Given the description of an element on the screen output the (x, y) to click on. 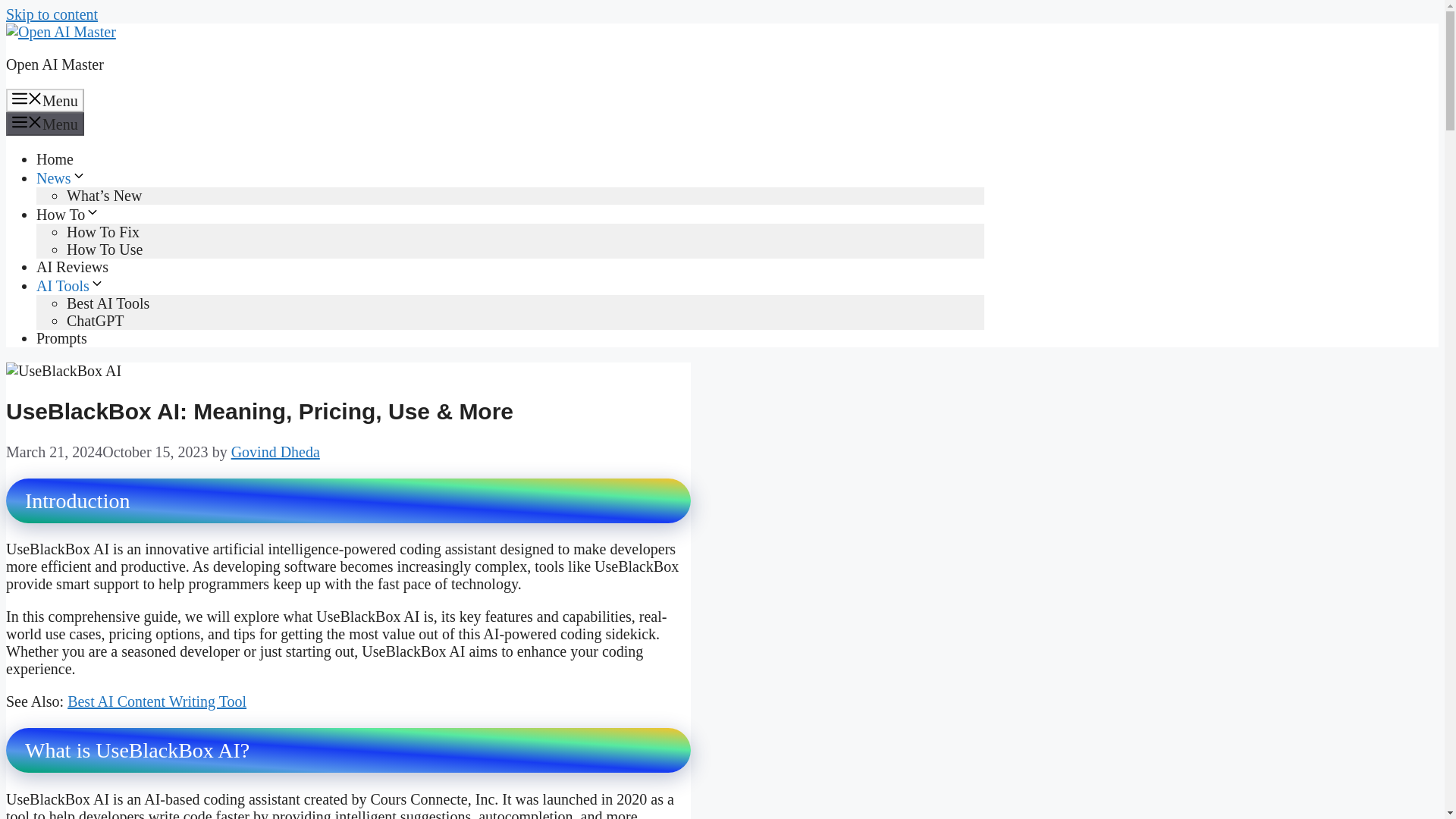
Best AI Tools (107, 303)
Menu (44, 123)
Prompts (61, 338)
Govind Dheda (275, 451)
How To (68, 214)
How To Fix (102, 231)
News (60, 177)
View all posts by Govind Dheda (275, 451)
How To Use (104, 248)
ChatGPT (94, 320)
